Given the description of an element on the screen output the (x, y) to click on. 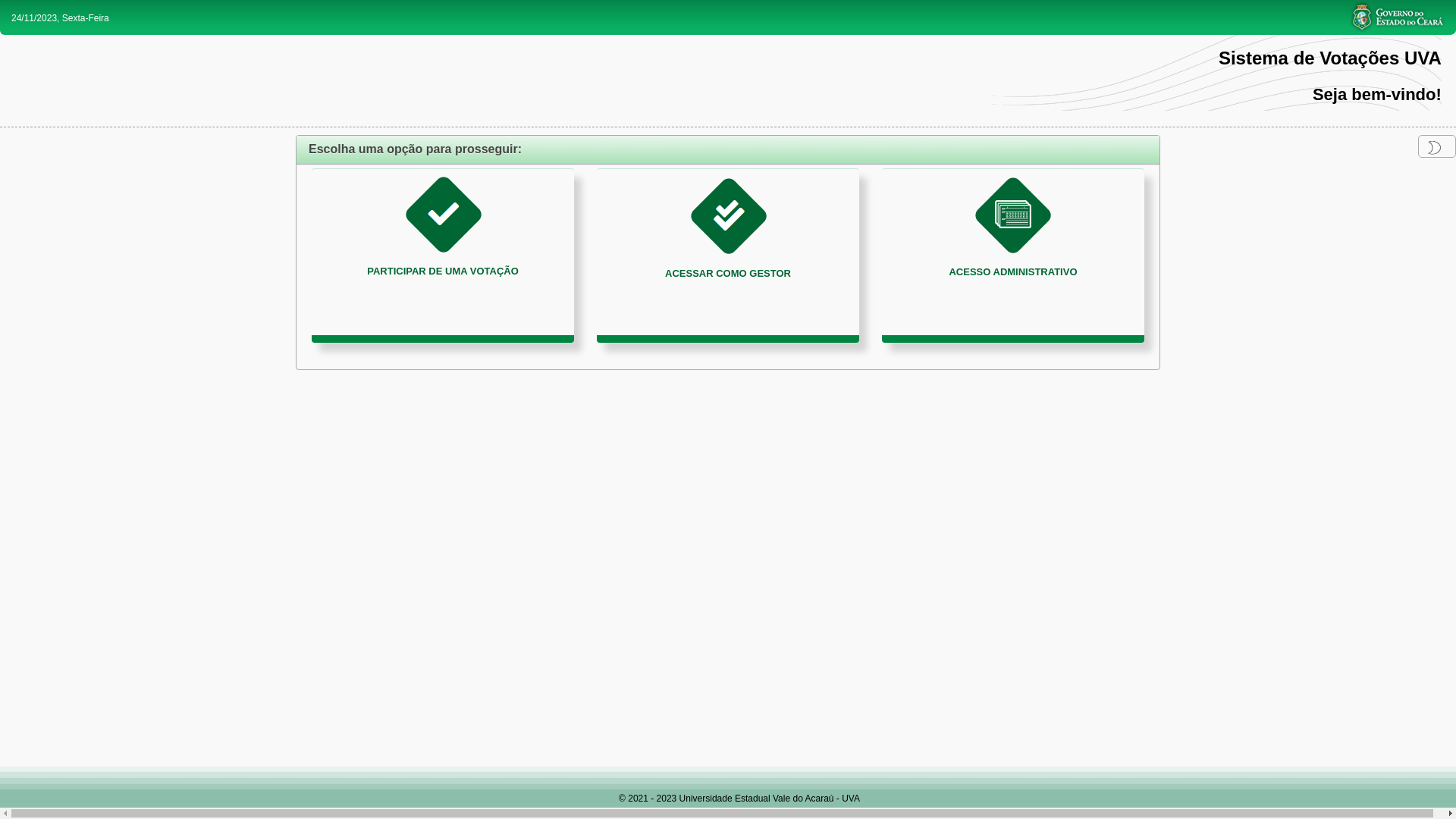
ACESSO ADMINISTRATIVO Element type: text (1012, 255)
ACESSAR COMO GESTOR Element type: text (727, 255)
